Given the description of an element on the screen output the (x, y) to click on. 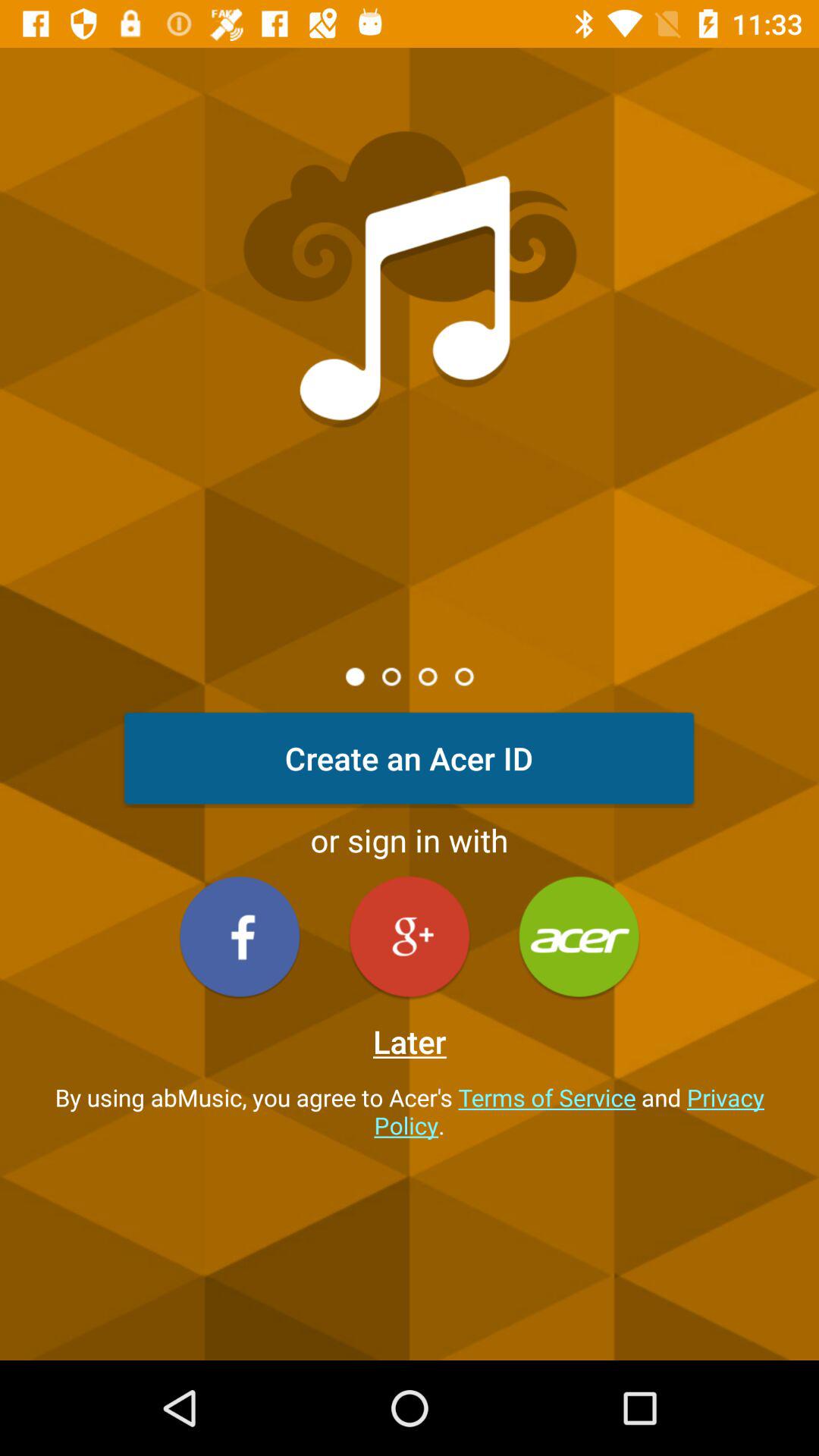
log in with google plus (409, 936)
